Given the description of an element on the screen output the (x, y) to click on. 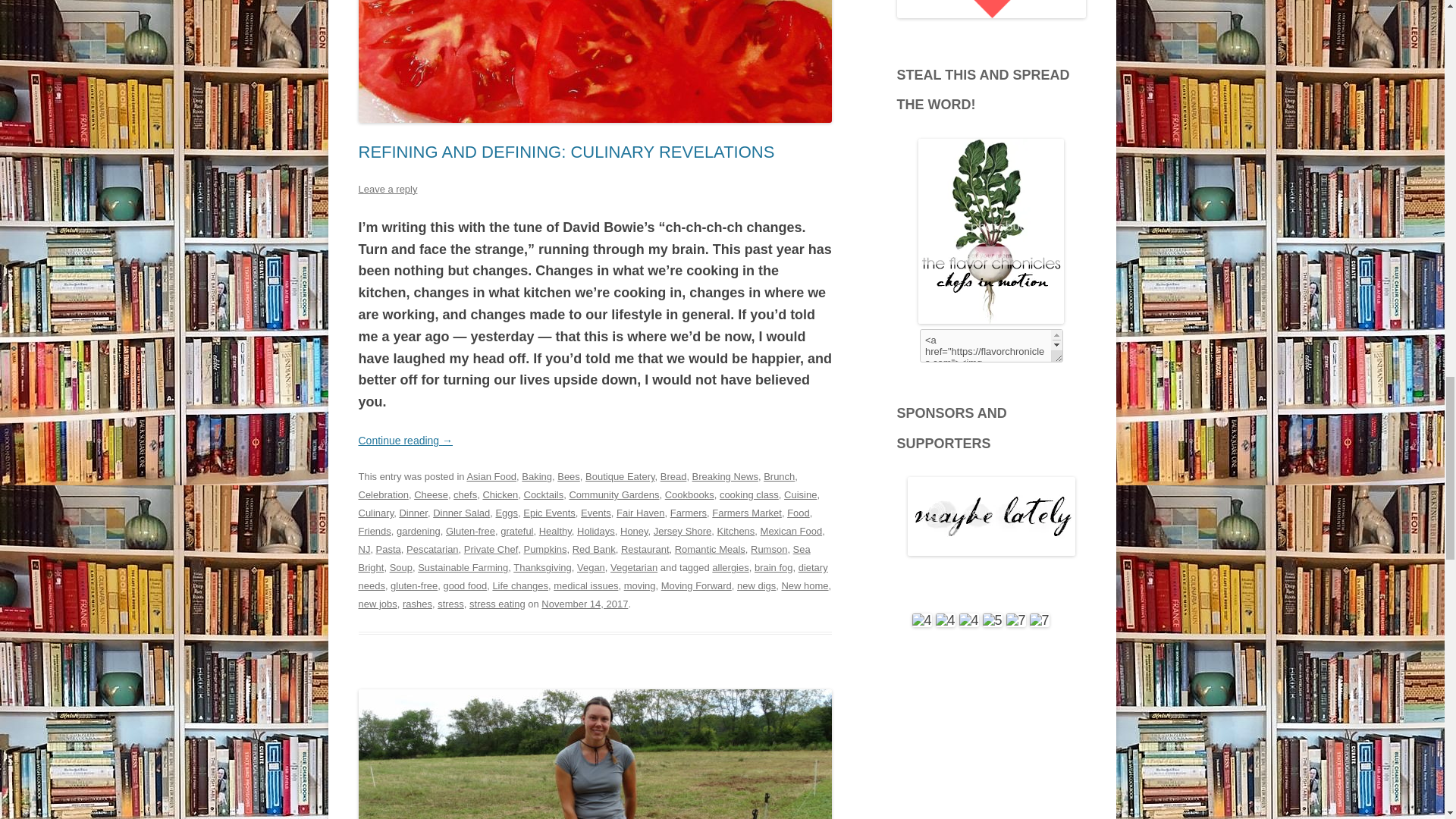
8:56 pm (584, 603)
